Given the description of an element on the screen output the (x, y) to click on. 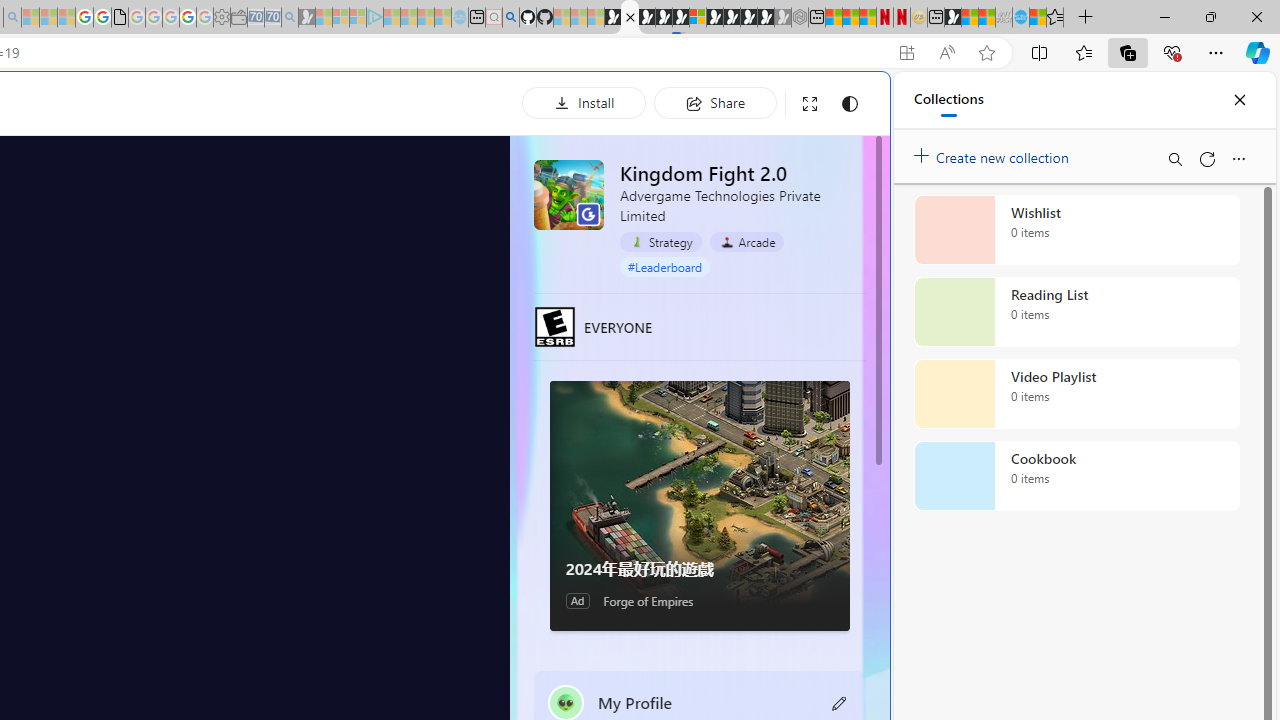
More options menu (1238, 158)
Tabs you've opened (276, 265)
Strategy (660, 241)
Install (583, 102)
